Given the description of an element on the screen output the (x, y) to click on. 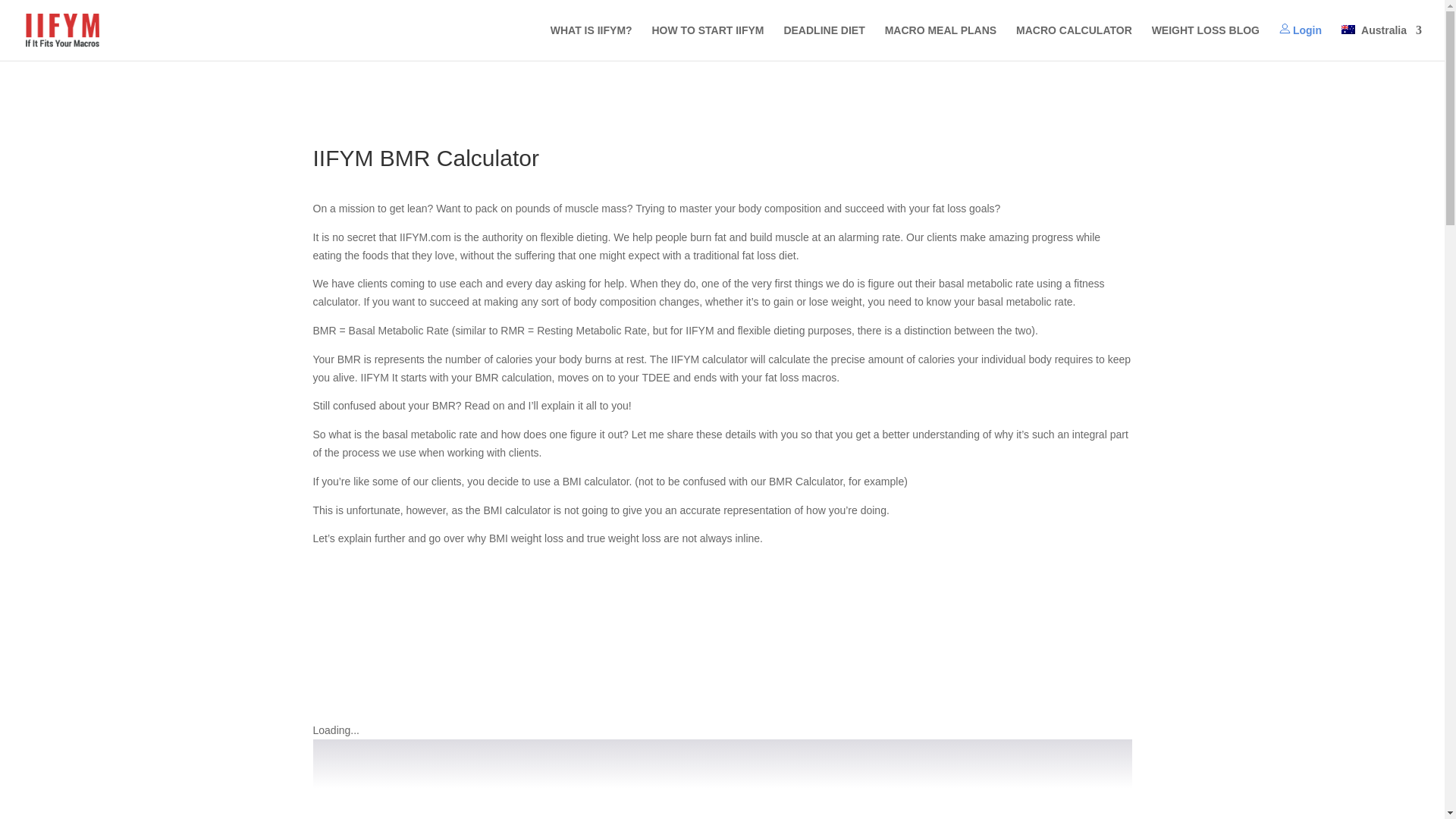
MACRO MEAL PLANS (941, 42)
HOW TO START IIFYM (708, 42)
WEIGHT LOSS BLOG (1205, 42)
Australia (1381, 42)
DEADLINE DIET (823, 42)
MACRO CALCULATOR (1074, 42)
Australia (1381, 42)
Login (1300, 42)
WHAT IS IIFYM? (590, 42)
